Given the description of an element on the screen output the (x, y) to click on. 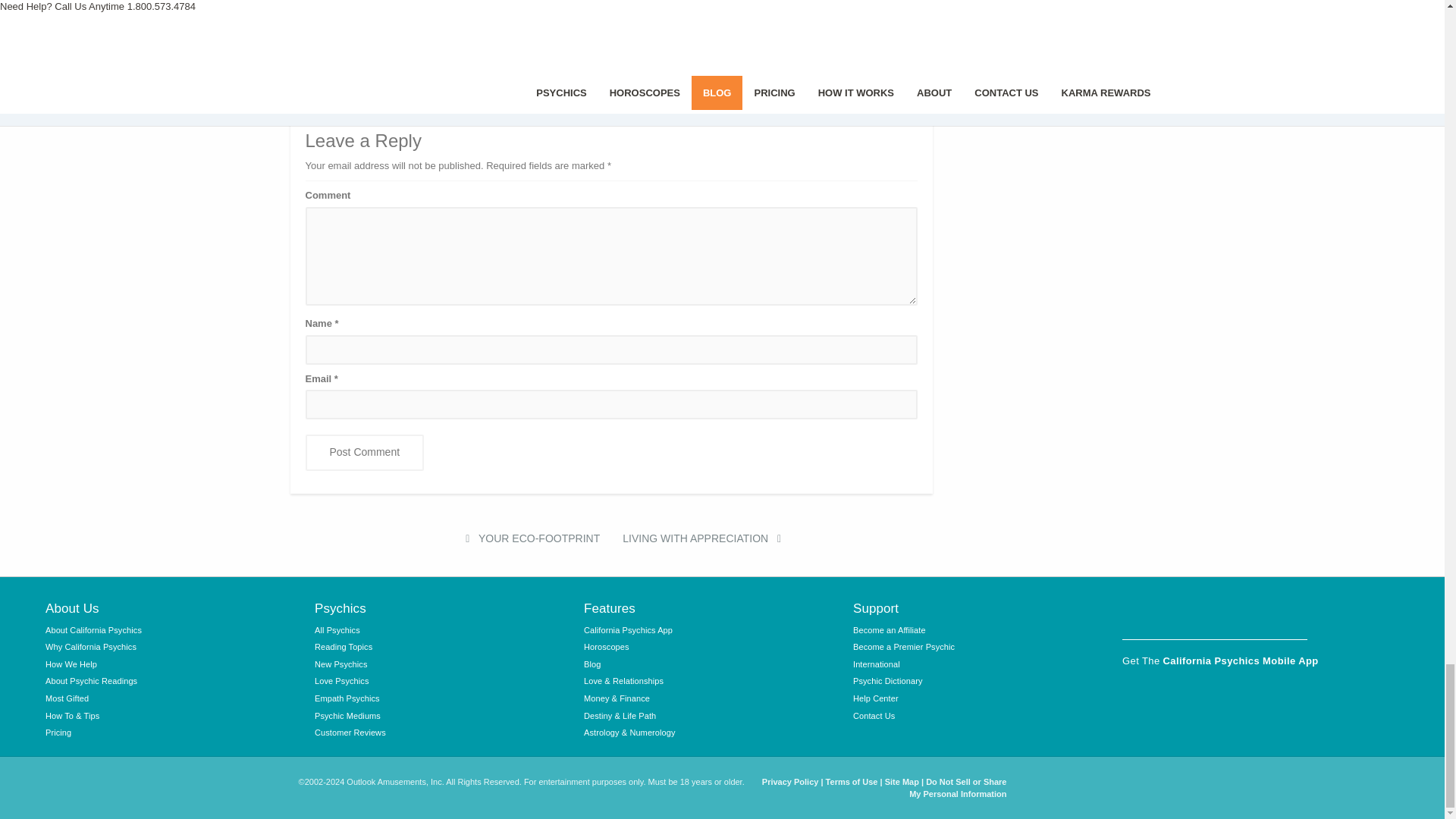
Go to Twitter (1213, 615)
Post Comment (363, 452)
Go to YouTube (1254, 615)
Go to Facebook (1136, 615)
Go to Instagram (1176, 615)
Go to Pinterest (1292, 615)
